Given the description of an element on the screen output the (x, y) to click on. 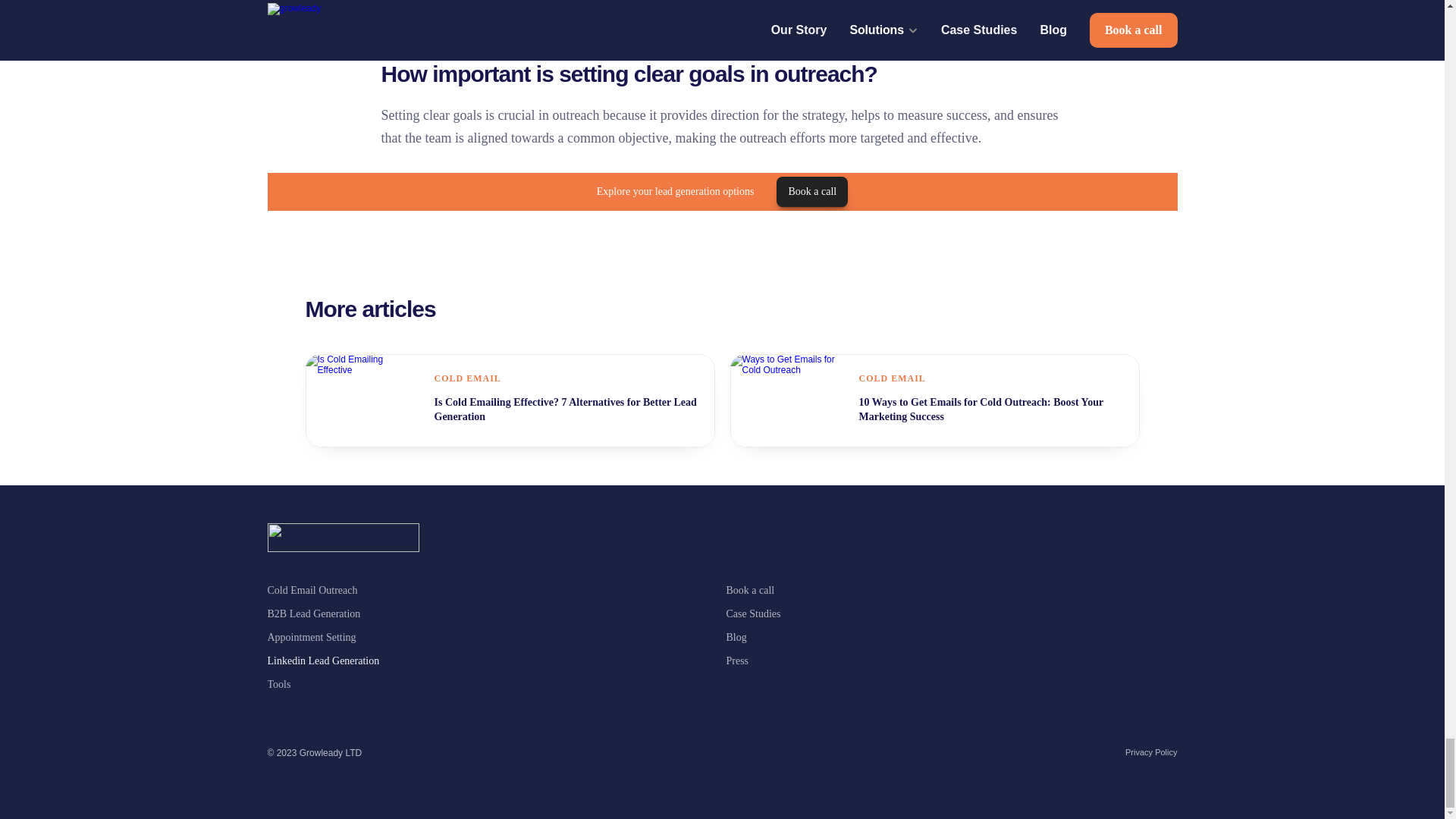
Tools (277, 684)
Privacy Policy (1150, 751)
Book a call (750, 590)
Press (737, 660)
B2B Lead Generation (312, 613)
Blog (736, 636)
Appointment Setting (310, 636)
Linkedin Lead Generation (322, 660)
